Given the description of an element on the screen output the (x, y) to click on. 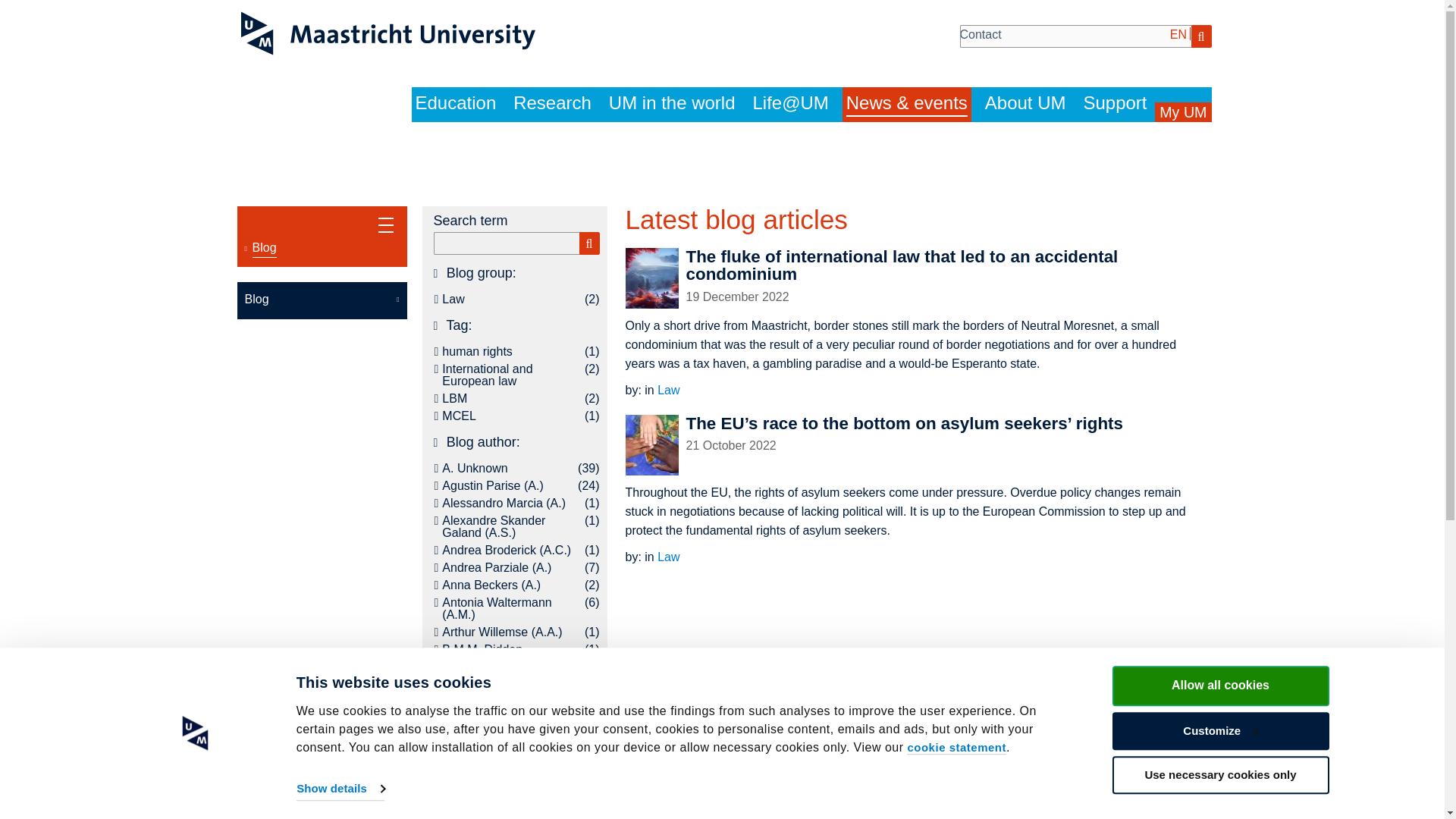
Maastricht University Logo (388, 33)
Show details (340, 789)
cookie statement (956, 747)
